Given the description of an element on the screen output the (x, y) to click on. 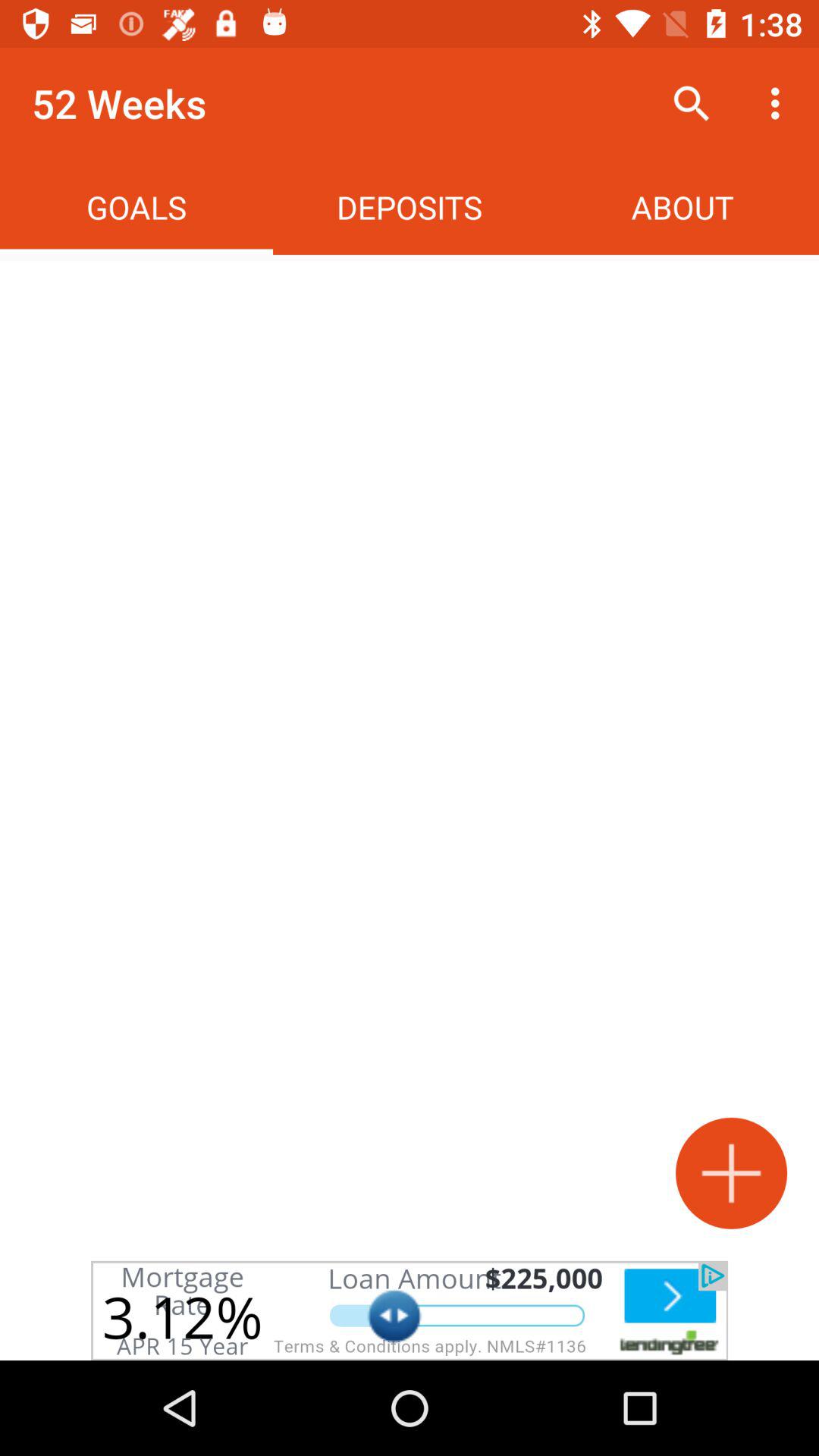
add goal (731, 1173)
